Given the description of an element on the screen output the (x, y) to click on. 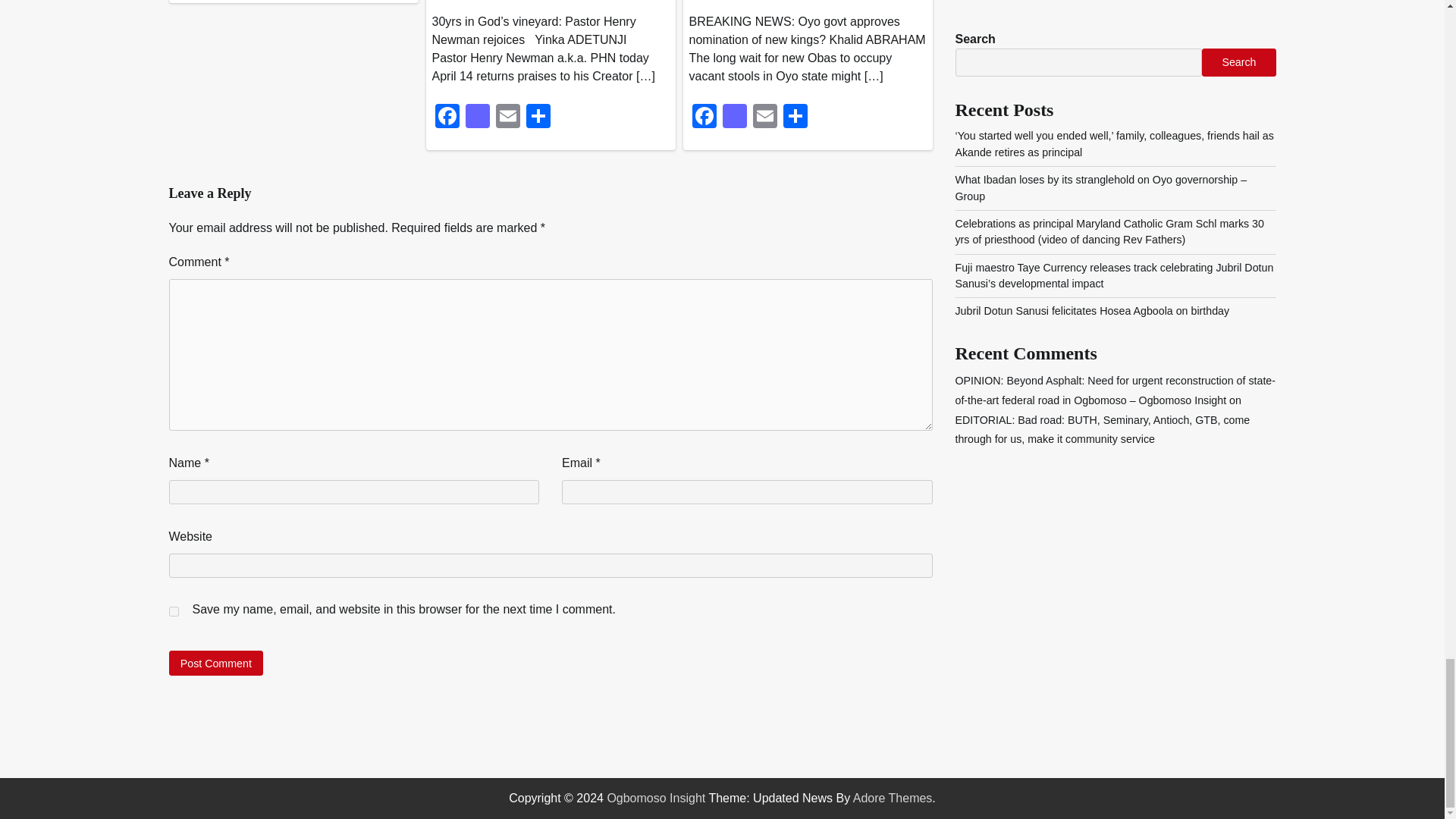
Mastodon (734, 117)
Facebook (447, 117)
Email (763, 117)
Mastodon (478, 117)
Email (507, 117)
yes (172, 611)
Facebook (703, 117)
Mastodon (734, 117)
Mastodon (478, 117)
Email (763, 117)
